Given the description of an element on the screen output the (x, y) to click on. 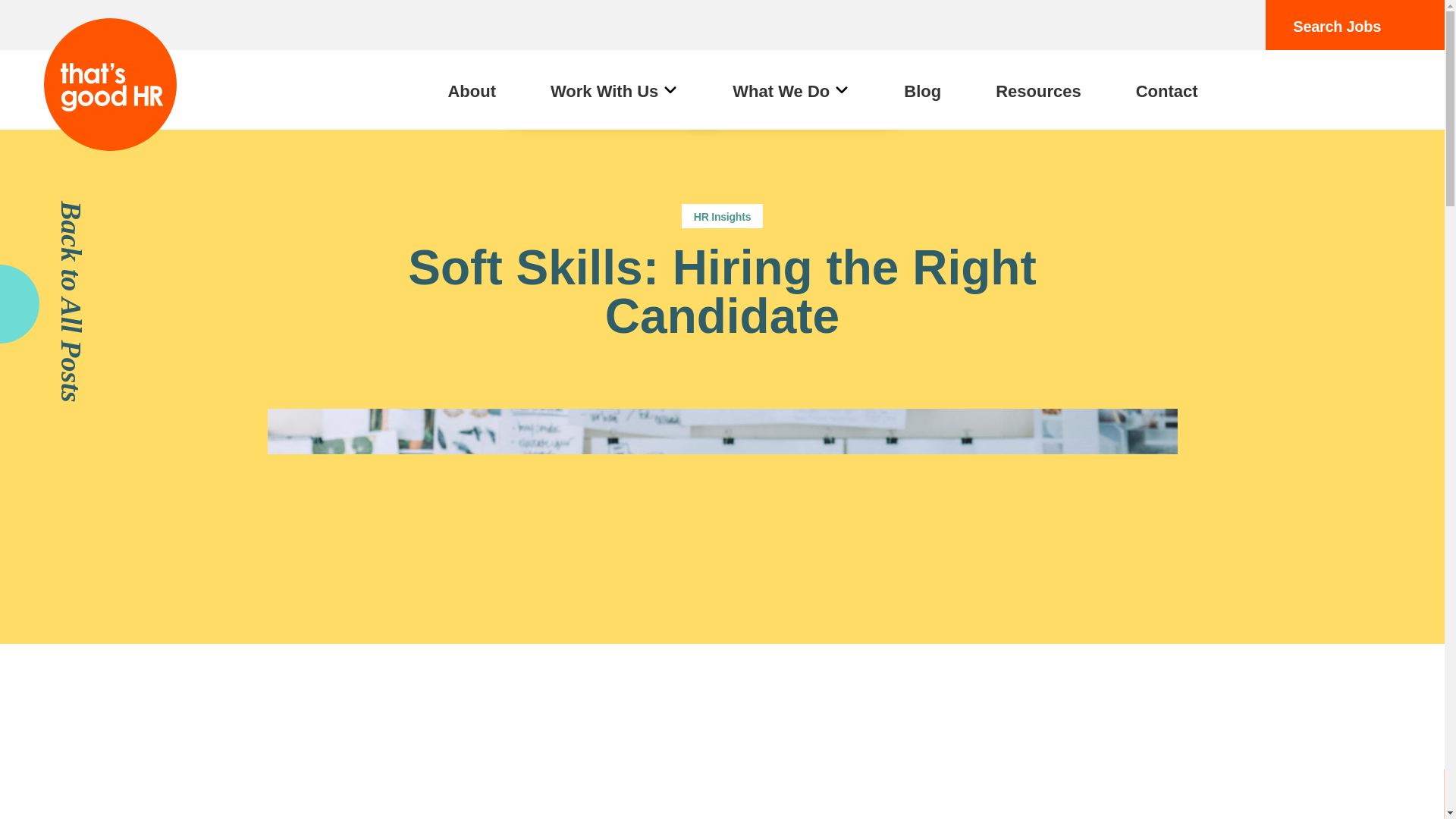
Blog (922, 90)
About (471, 90)
Link to Instagram (1227, 24)
What We Do (790, 90)
Job Seekers (613, 24)
Employers (613, 84)
Resources (1038, 90)
Link to Twitter (1125, 24)
Direct Hire (791, 84)
Link to Linkedin (1176, 24)
